Given the description of an element on the screen output the (x, y) to click on. 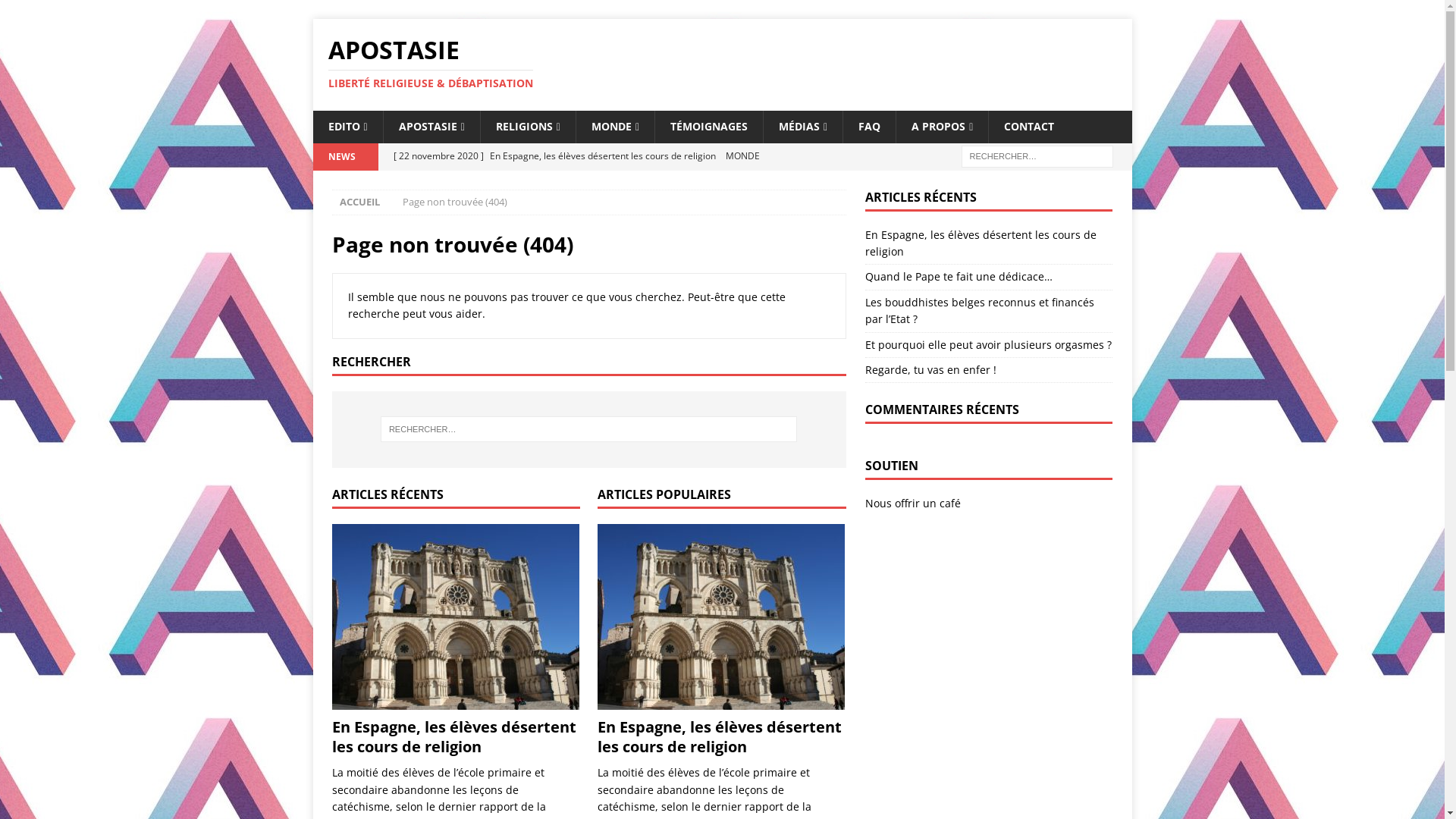
Rechercher Element type: text (56, 11)
CONTACT Element type: text (1028, 126)
APOSTASIE Element type: text (431, 126)
RELIGIONS Element type: text (527, 126)
ACCUEIL Element type: text (359, 201)
EDITO Element type: text (347, 126)
A PROPOS Element type: text (941, 126)
Rechercher Element type: text (390, 11)
MONDE Element type: text (614, 126)
Et pourquoi elle peut avoir plusieurs orgasmes ? Element type: text (988, 344)
FAQ Element type: text (868, 126)
Regarde, tu vas en enfer ! Element type: text (930, 369)
